Given the description of an element on the screen output the (x, y) to click on. 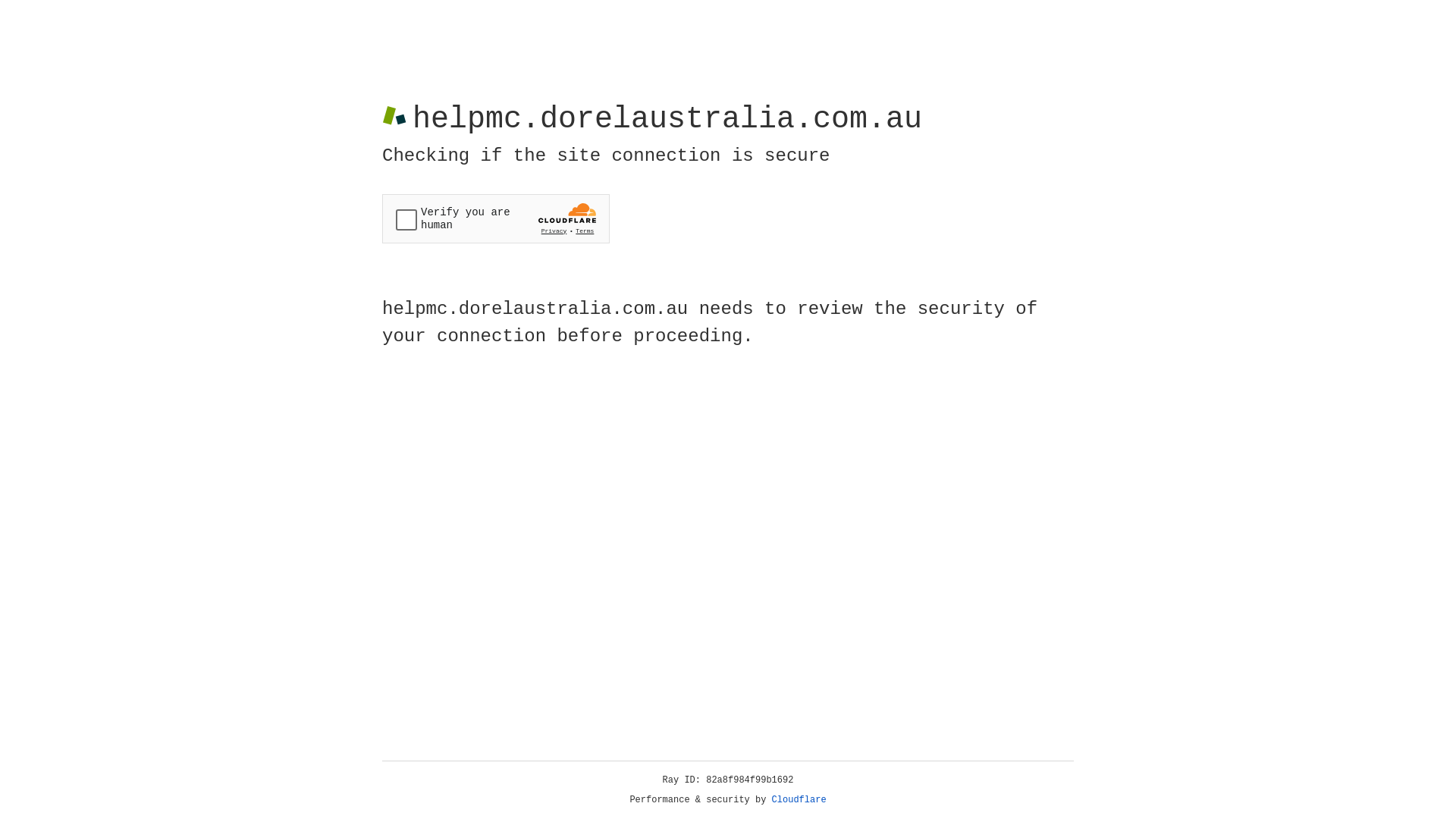
Cloudflare Element type: text (798, 799)
Widget containing a Cloudflare security challenge Element type: hover (495, 218)
